Given the description of an element on the screen output the (x, y) to click on. 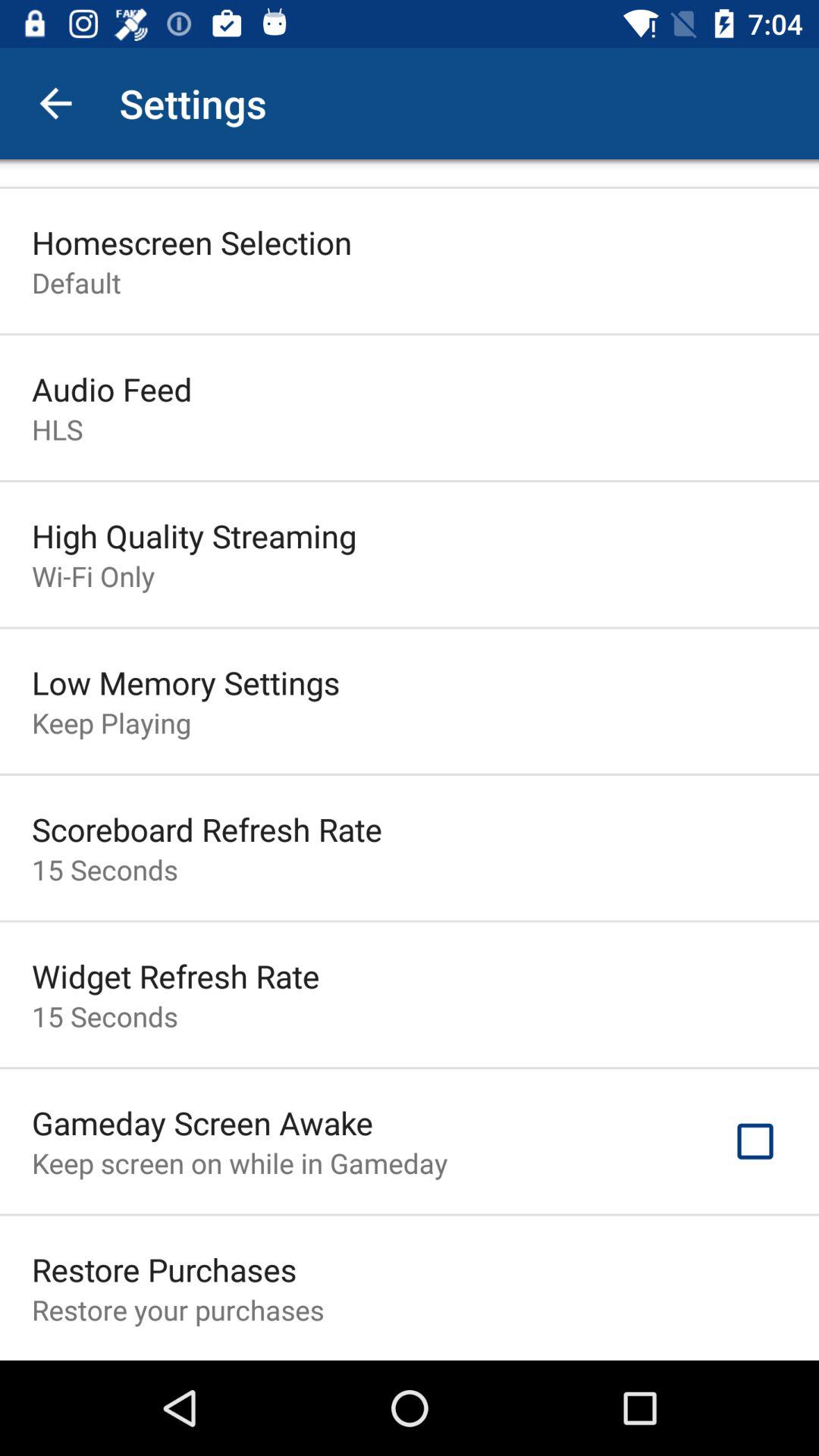
swipe to keep screen on (239, 1162)
